Given the description of an element on the screen output the (x, y) to click on. 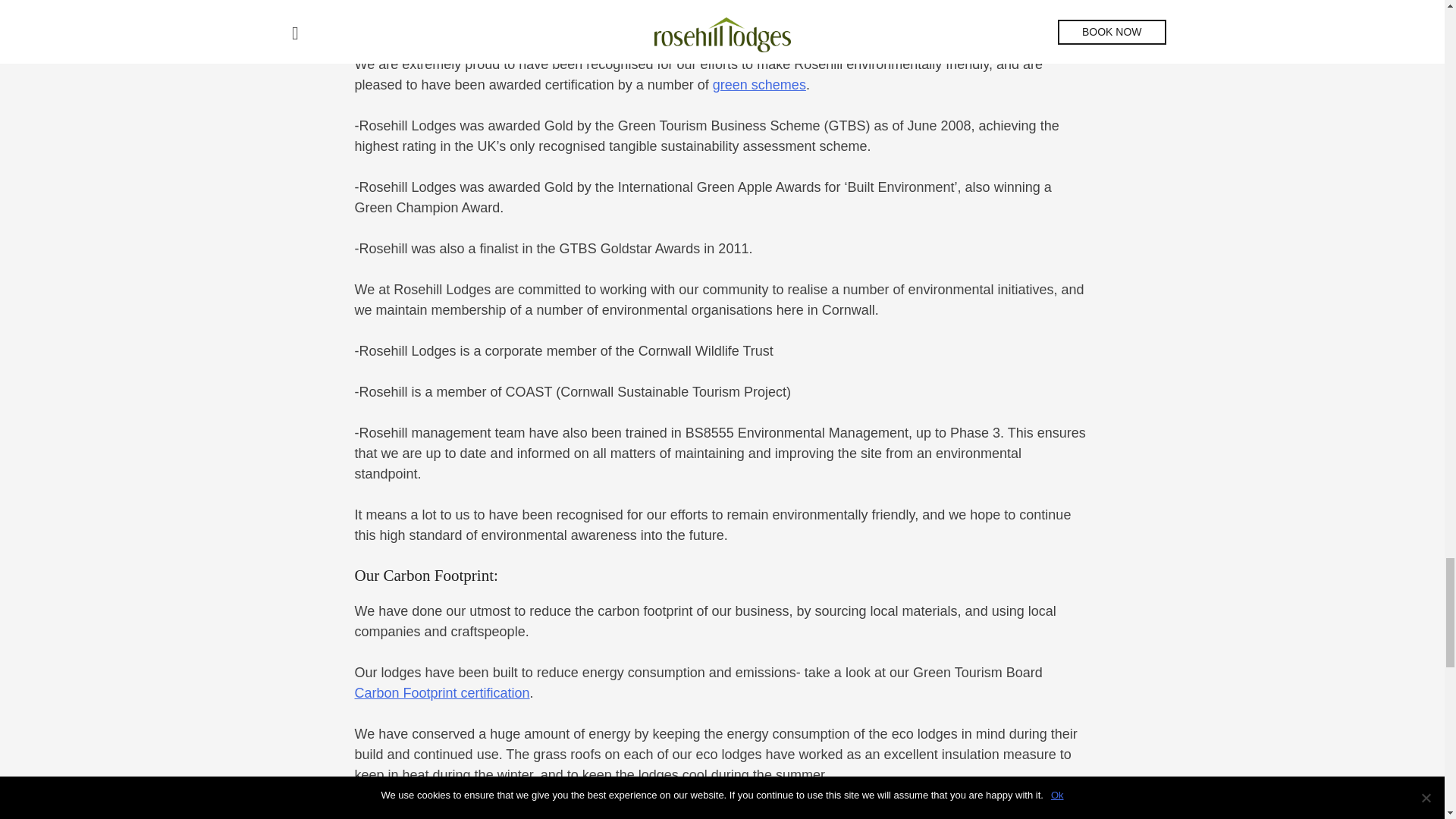
Carbon Footprint certification (442, 693)
green schemes (759, 84)
